Given the description of an element on the screen output the (x, y) to click on. 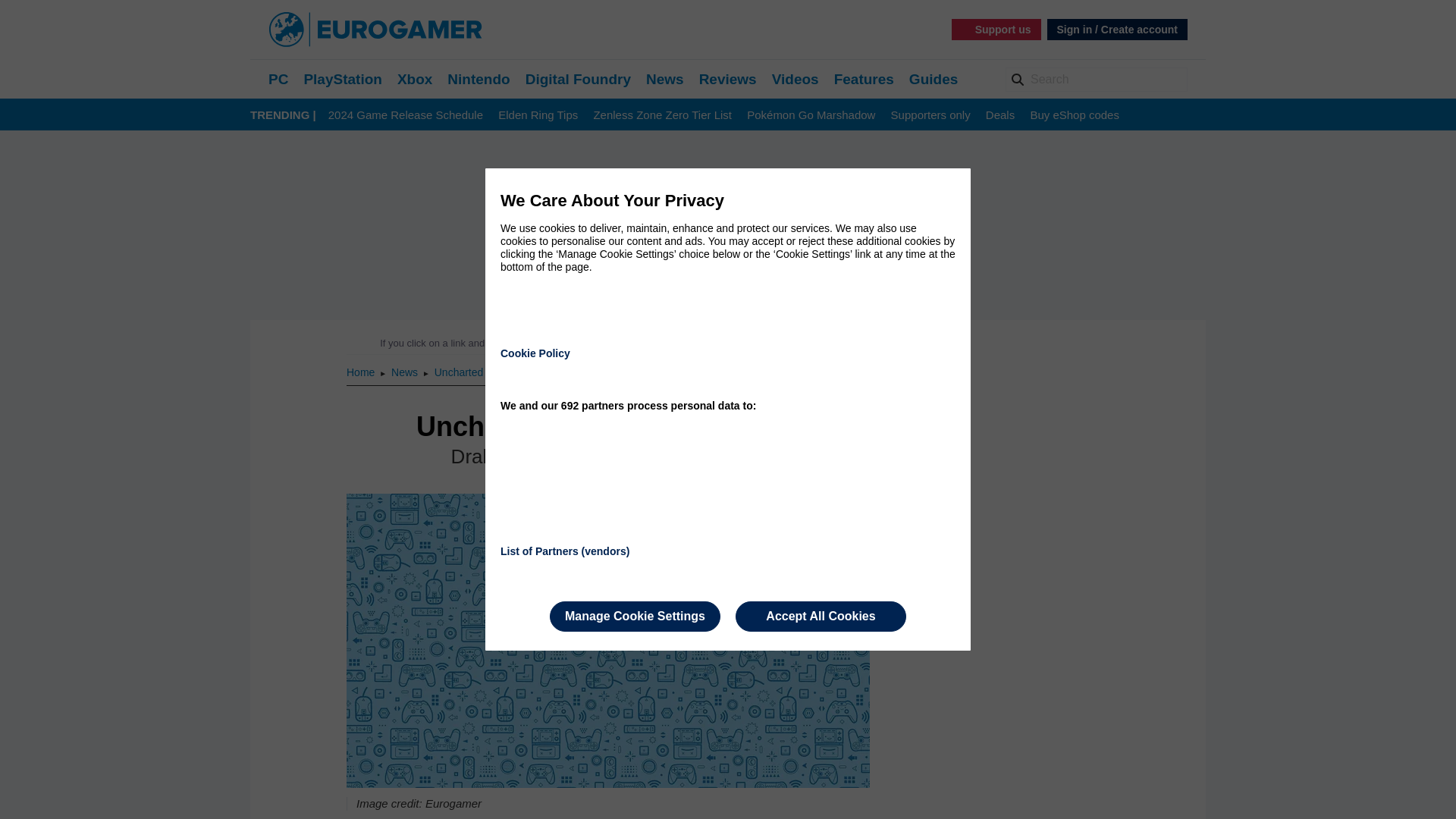
Features (863, 78)
Buy eShop codes (1074, 114)
PlayStation (341, 78)
Deals (999, 114)
Xbox (414, 78)
Read our editorial policy (781, 342)
Videos (794, 78)
Reviews (727, 78)
PlayStation (341, 78)
Features (863, 78)
Nintendo (477, 78)
Guides (933, 78)
2024 Game Release Schedule (406, 114)
News (665, 78)
Supporters only (931, 114)
